Given the description of an element on the screen output the (x, y) to click on. 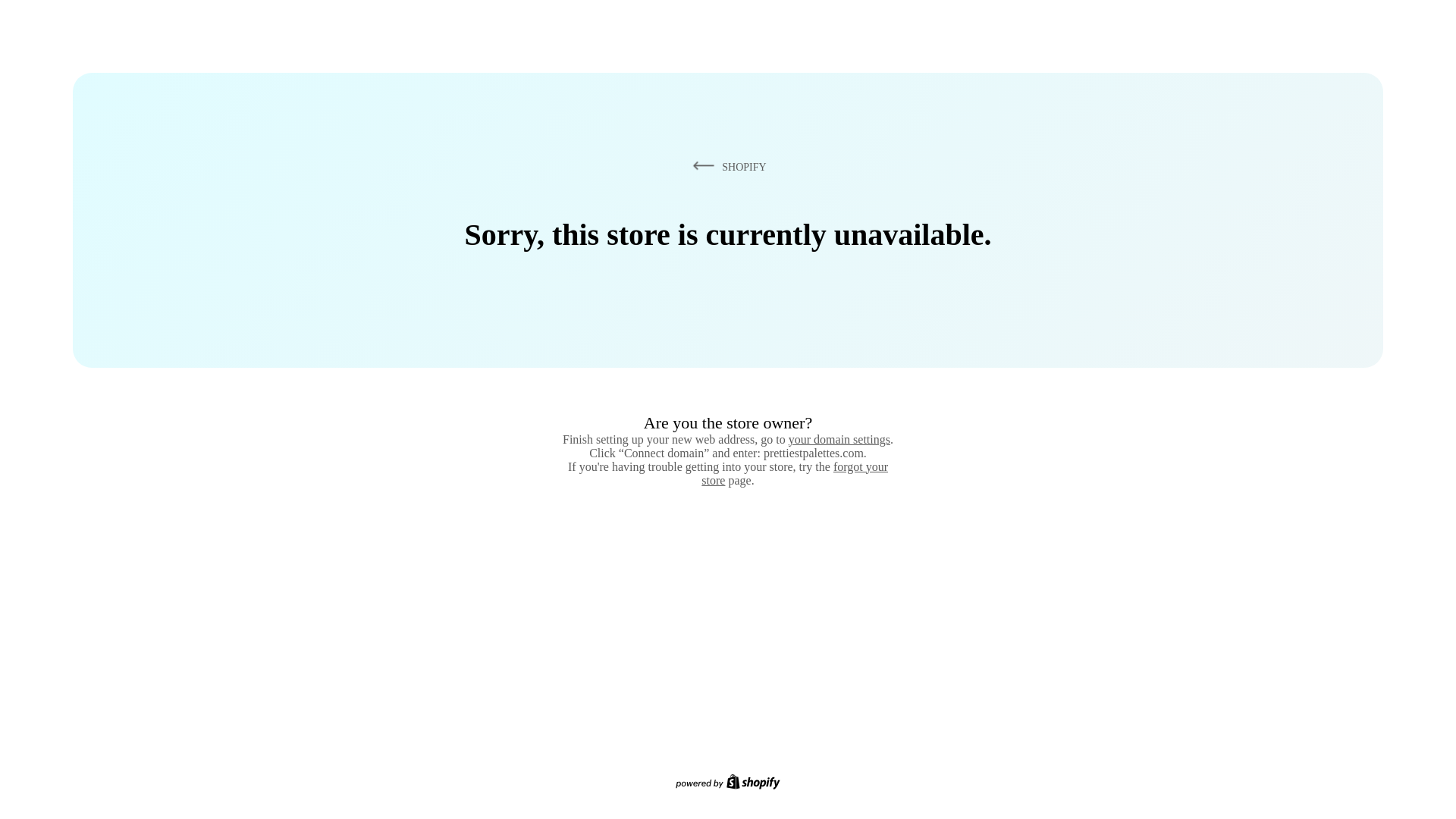
forgot your store (794, 473)
SHOPIFY (726, 166)
your domain settings (839, 439)
